Given the description of an element on the screen output the (x, y) to click on. 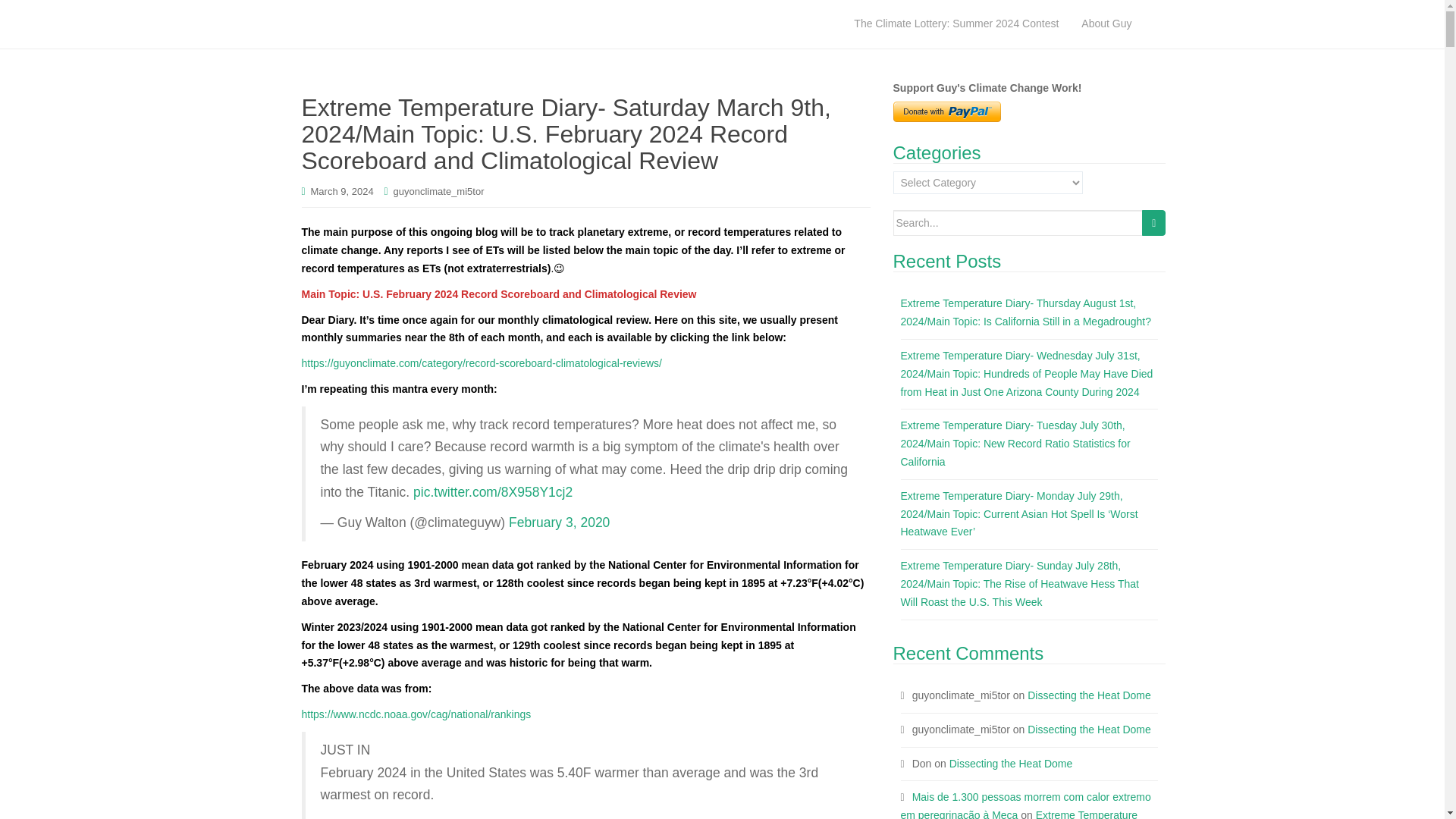
The Climate Lottery: Summer 2024 Contest (956, 24)
About Guy (1106, 24)
The Climate Lottery: Summer 2024 Contest (956, 24)
March 9, 2024 (342, 191)
February 3, 2020 (559, 522)
About Guy (1106, 24)
